Given the description of an element on the screen output the (x, y) to click on. 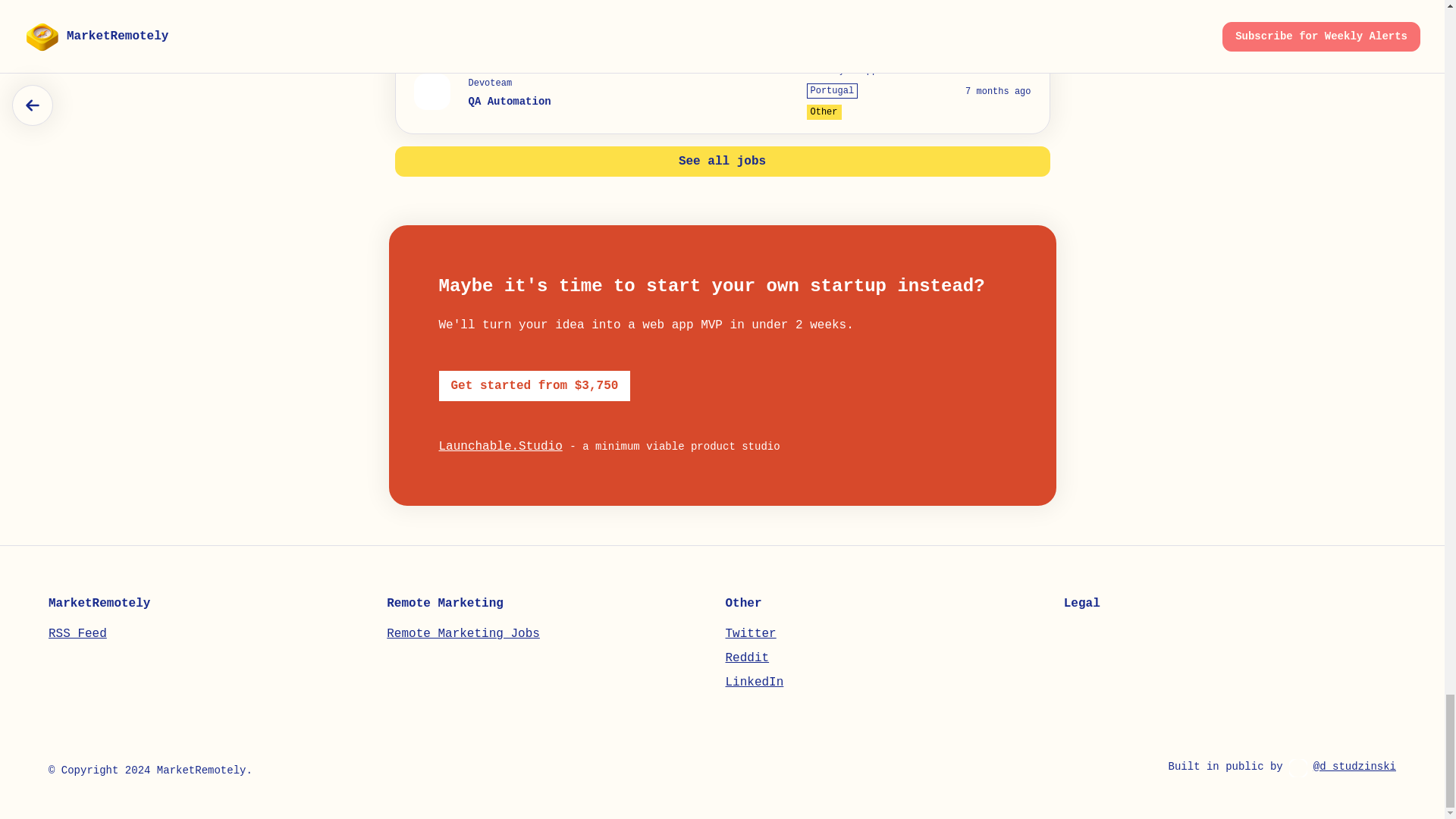
See all jobs (721, 161)
RSS Feed (77, 633)
LinkedIn (754, 682)
Remote Marketing Jobs (463, 633)
Reddit (746, 658)
Twitter (750, 633)
Launchable.Studio (500, 446)
